Given the description of an element on the screen output the (x, y) to click on. 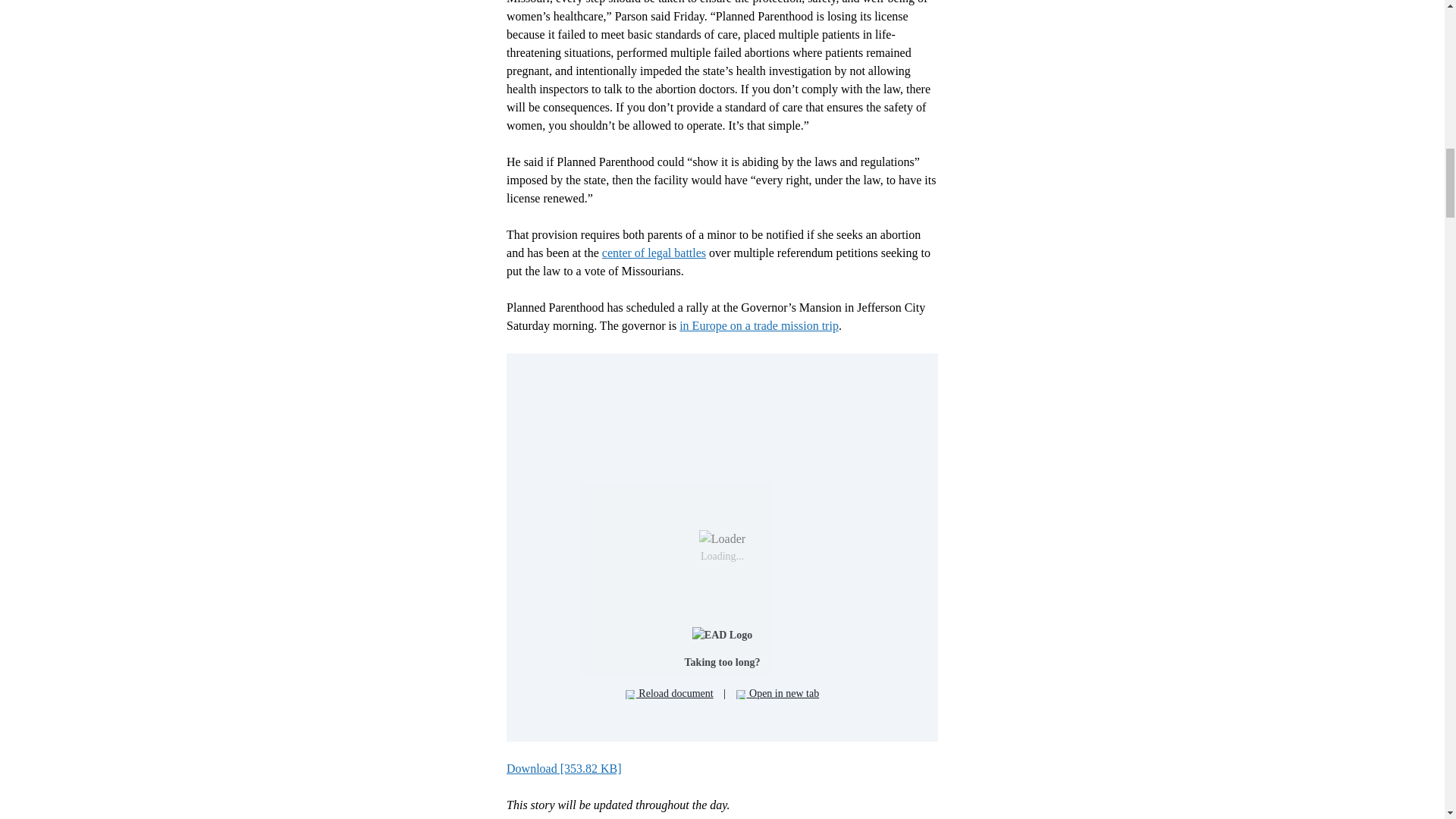
Open in new tab (777, 693)
in Europe on a trade mission trip (758, 325)
center of legal battles (654, 252)
